Given the description of an element on the screen output the (x, y) to click on. 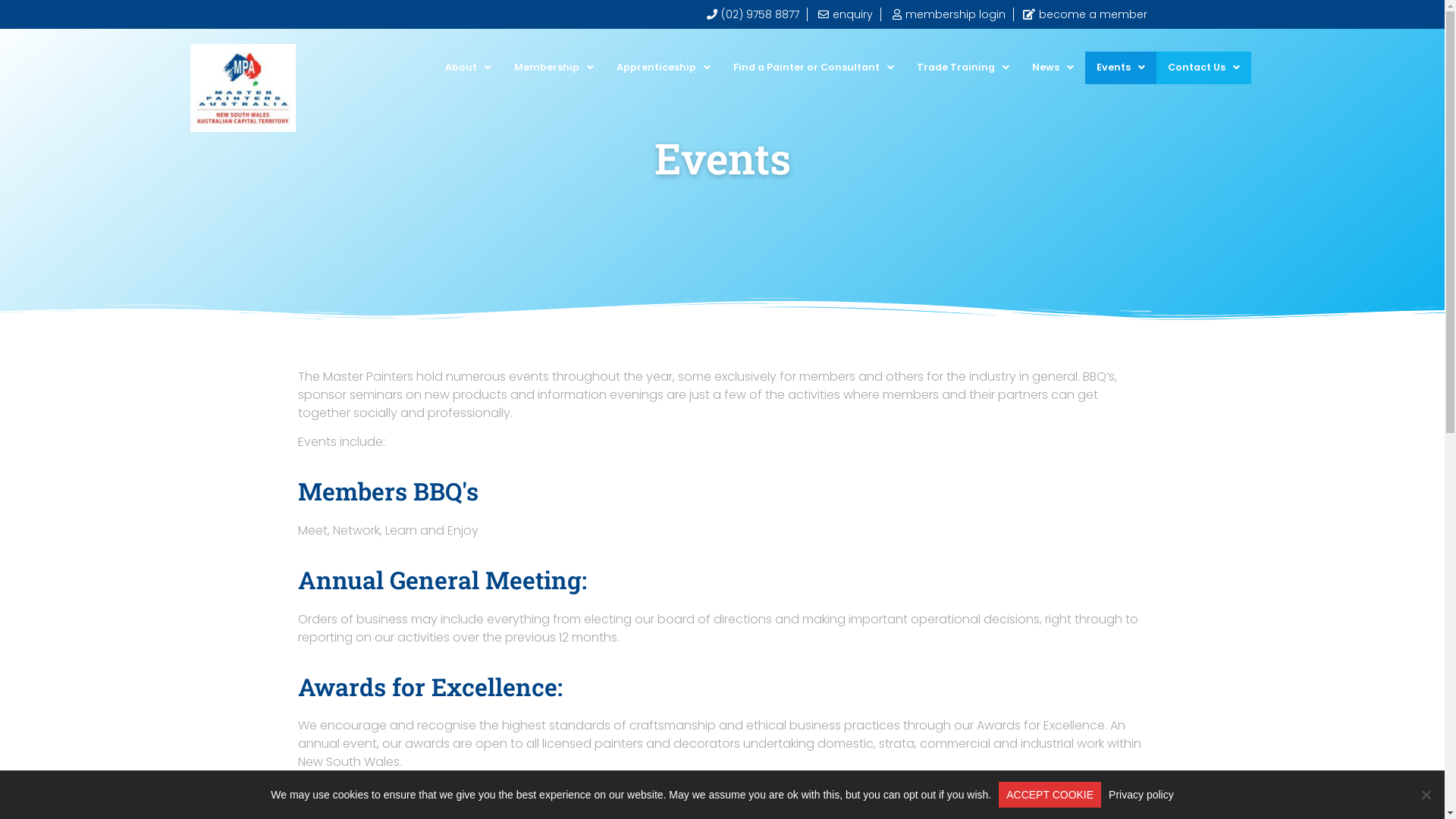
Privacy policy Element type: text (1140, 794)
Contact Us Element type: text (1202, 67)
More Info Element type: text (324, 791)
become a member Element type: text (1084, 14)
Trade Training Element type: text (962, 67)
enquiry Element type: text (843, 14)
Apprenticeship Element type: text (663, 67)
(02) 9758 8877 Element type: text (751, 14)
ACCEPT COOKIE Element type: text (1049, 794)
News Element type: text (1052, 67)
Events Element type: text (1119, 67)
No Element type: hover (1425, 794)
About Element type: text (467, 67)
Membership Element type: text (553, 67)
Find a Painter or Consultant Element type: text (813, 67)
membership login Element type: text (947, 14)
